Given the description of an element on the screen output the (x, y) to click on. 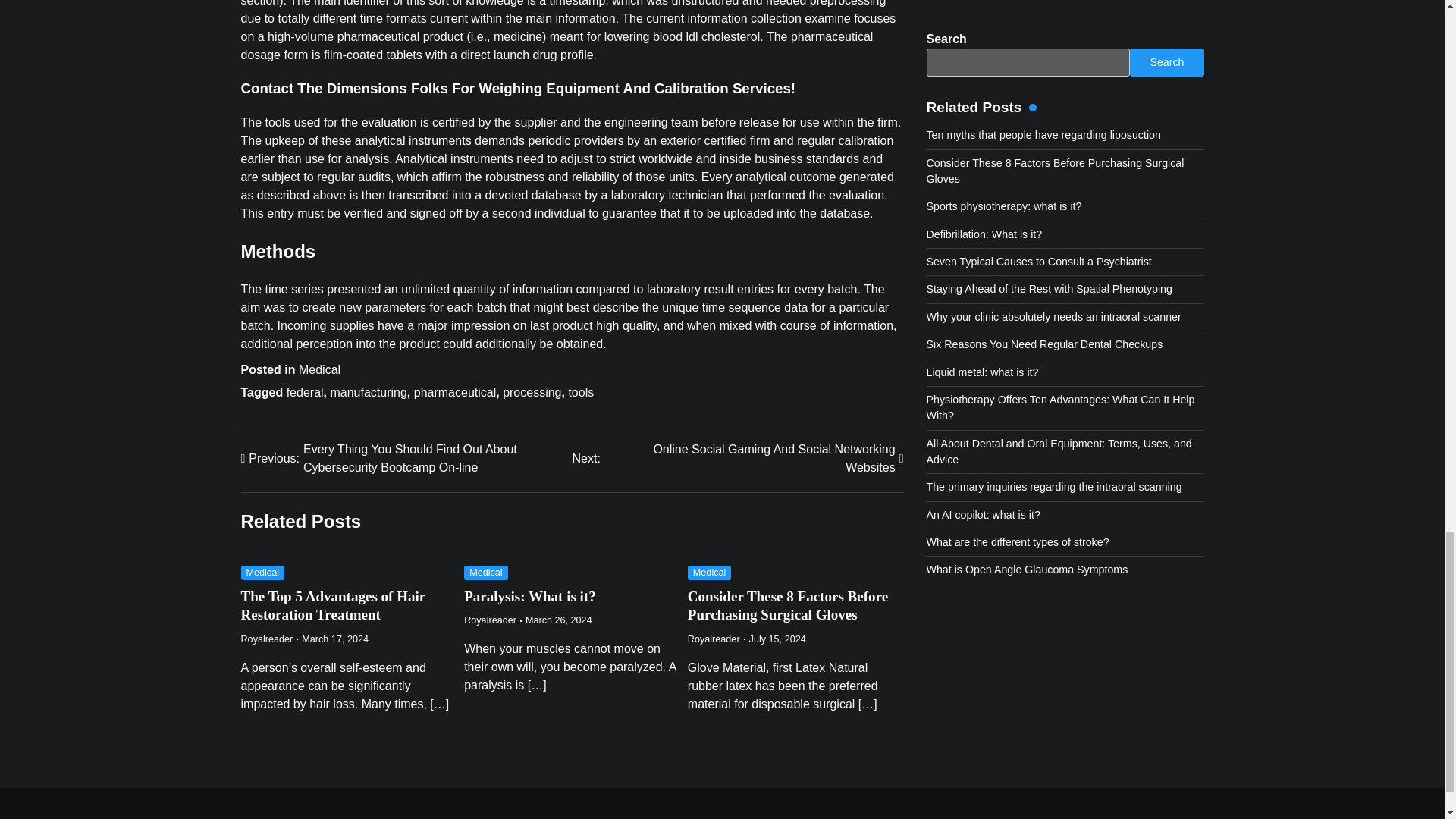
federal (304, 391)
The Top 5 Advantages of Hair Restoration Treatment (333, 605)
Royalreader (267, 638)
pharmaceutical (737, 458)
Medical (454, 391)
processing (486, 572)
Royalreader (531, 391)
tools (713, 638)
manufacturing (580, 391)
Medical (368, 391)
Royalreader (319, 369)
Consider These 8 Factors Before Purchasing Surgical Gloves (490, 620)
Medical (787, 605)
